Given the description of an element on the screen output the (x, y) to click on. 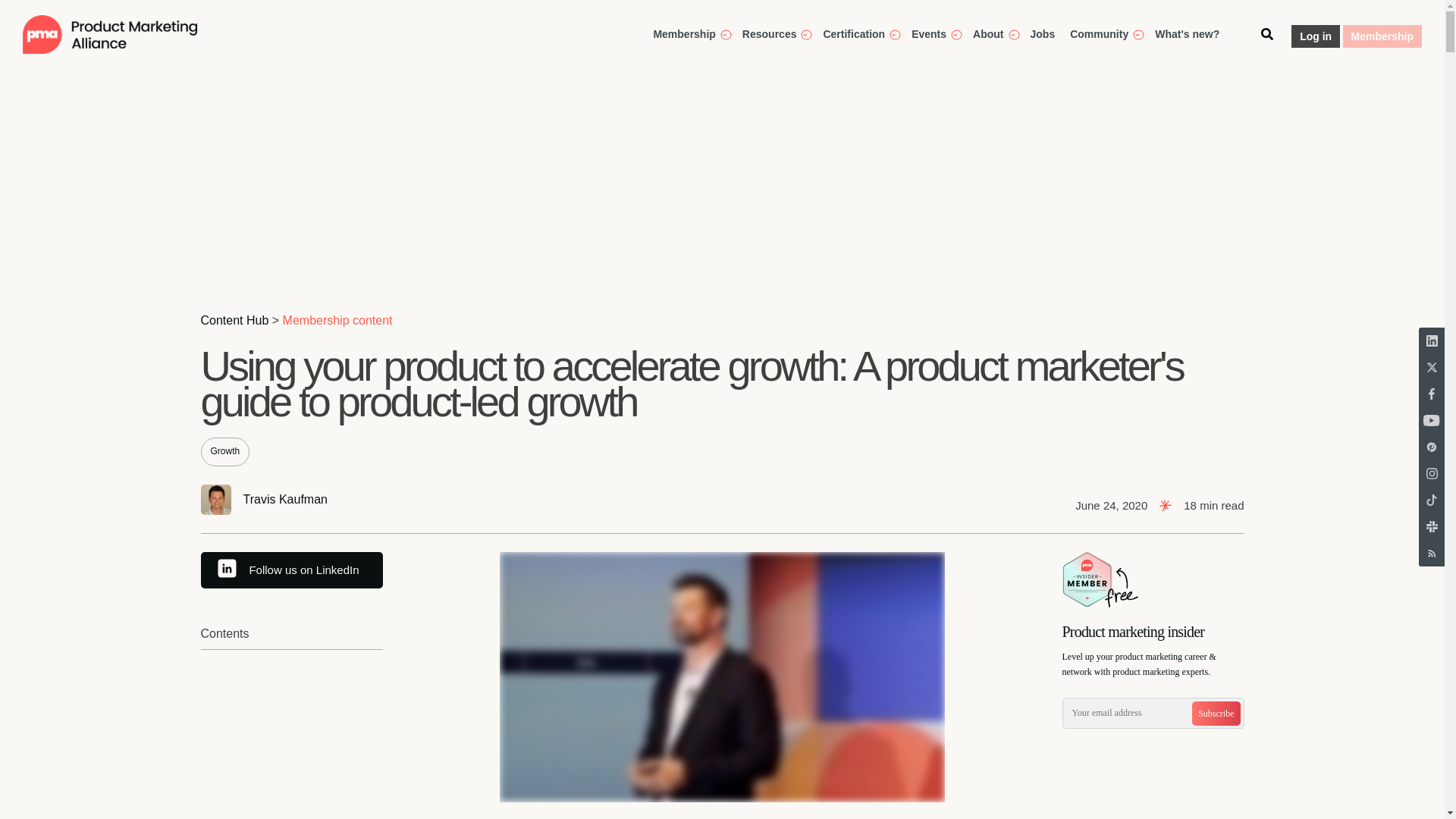
Log in (1315, 36)
Membership (1382, 36)
RSS (1431, 552)
